Given the description of an element on the screen output the (x, y) to click on. 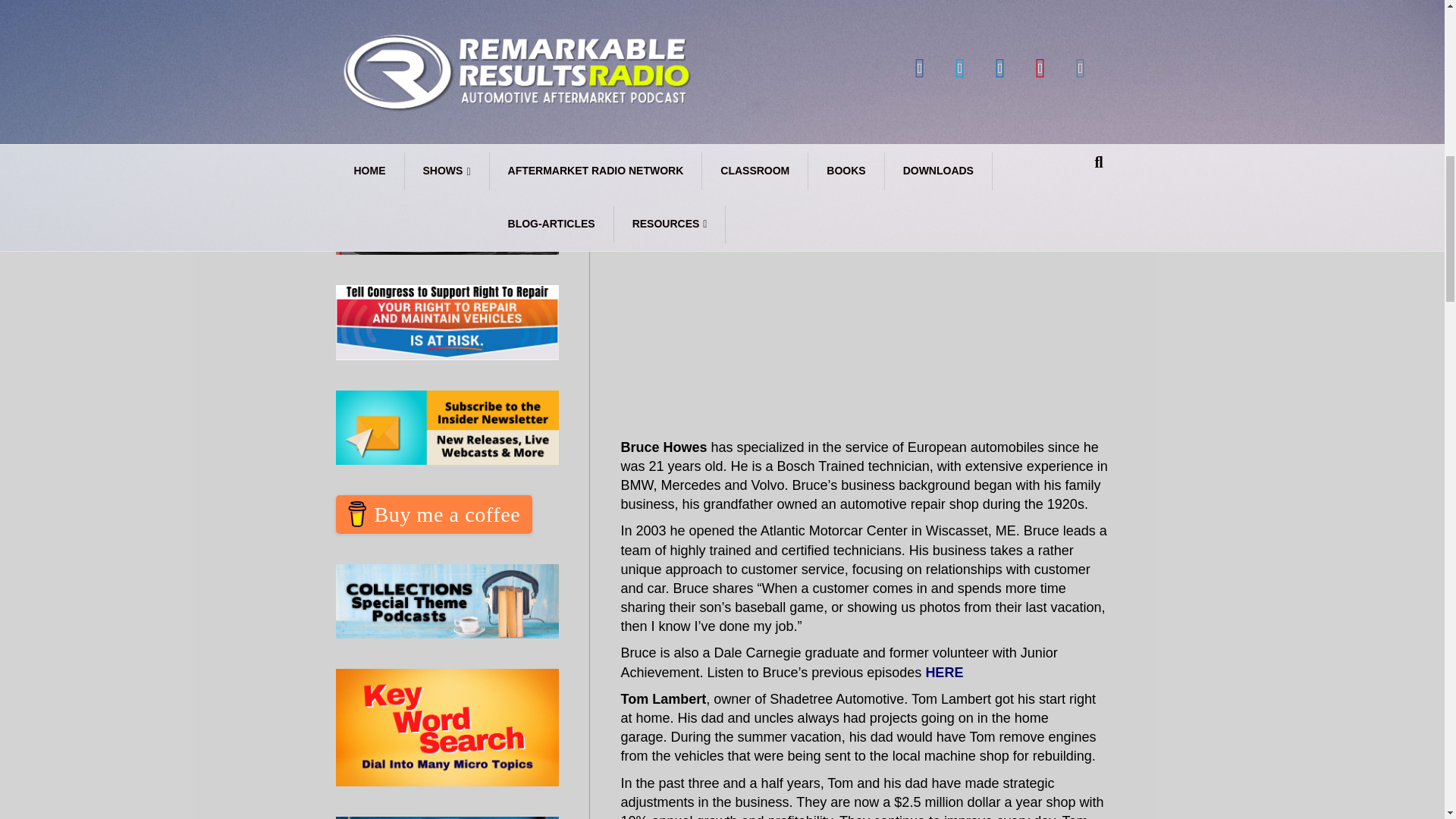
Share via Email (835, 61)
Share via LinkedIn (803, 61)
Type and press Enter to search. (446, 5)
Share via Facebook (740, 61)
Share via Twitter (772, 61)
